Given the description of an element on the screen output the (x, y) to click on. 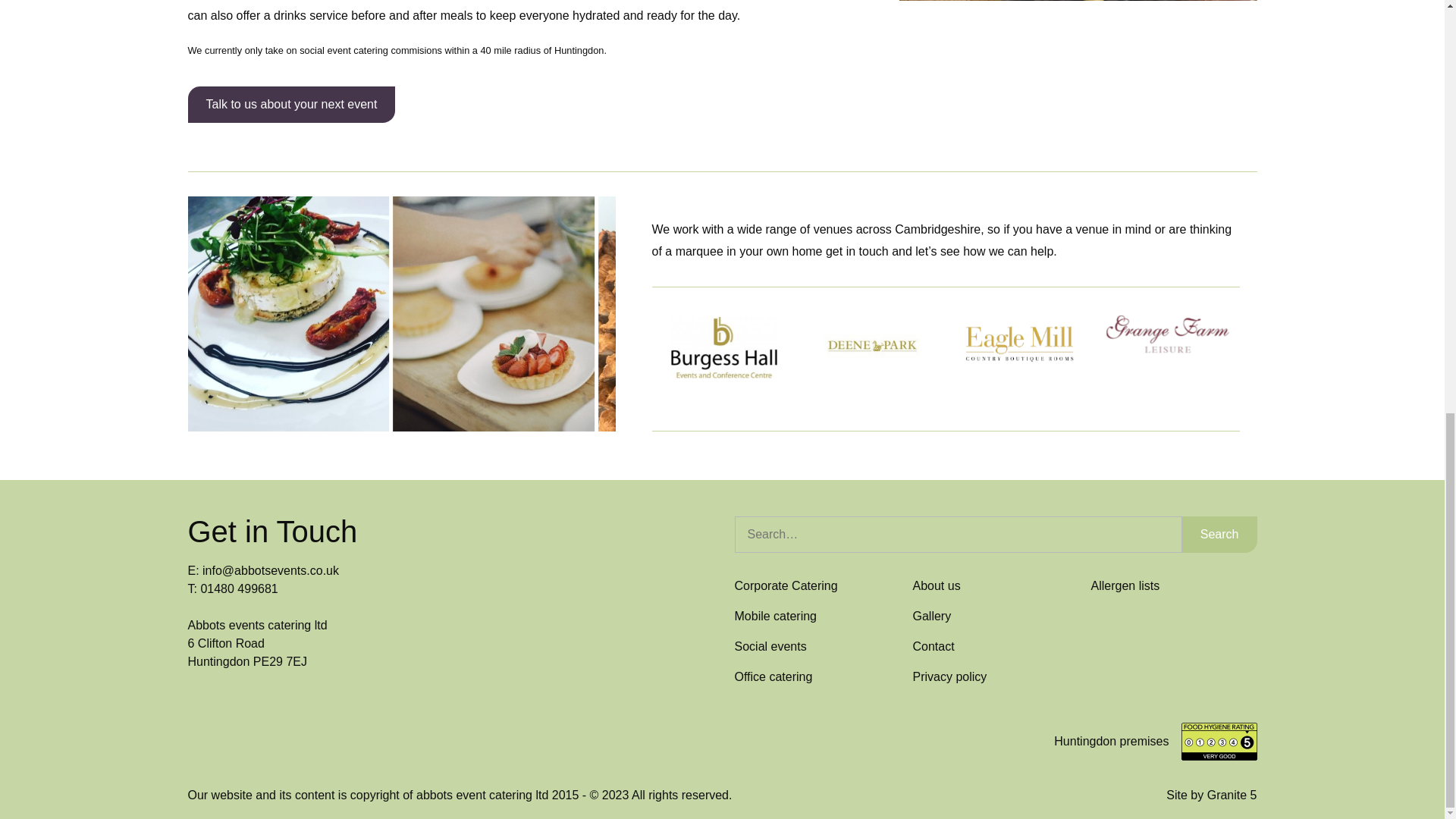
About us (936, 585)
Search (1219, 534)
Allergen lists (1124, 585)
01480 499681 (239, 588)
Talk to us about your next event (291, 104)
Gallery (932, 615)
Office catering (772, 676)
Mobile catering (774, 615)
Search (1219, 534)
Contact (933, 645)
Huntingdon premises (1111, 741)
Privacy policy (949, 676)
Corporate Catering (785, 585)
Social events (769, 645)
Search for: (956, 534)
